Given the description of an element on the screen output the (x, y) to click on. 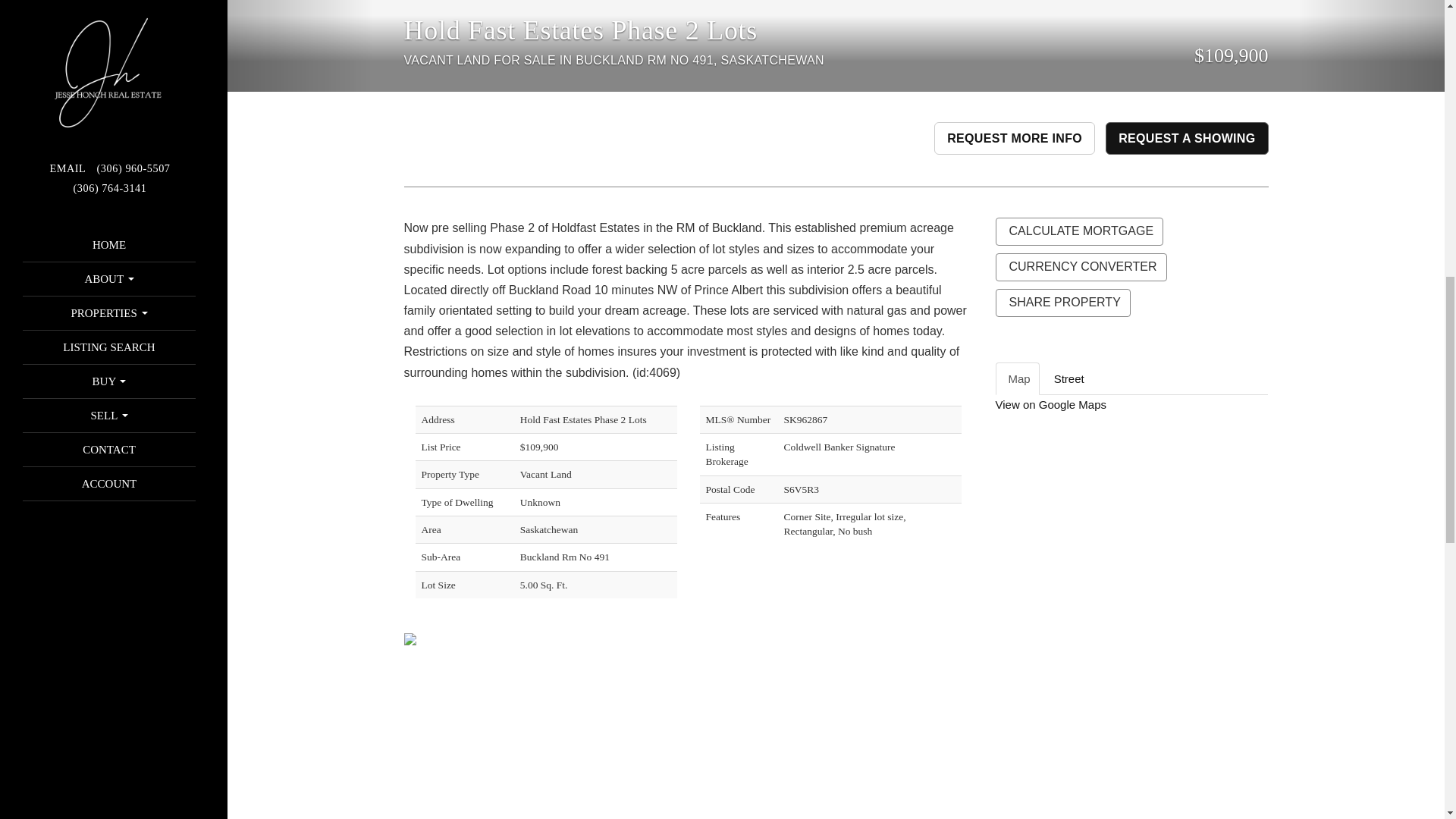
SHARE PROPERTY (1061, 302)
Previous (300, 45)
CURRENCY CONVERTER (1080, 267)
REQUEST MORE INFO (1014, 138)
REQUEST A SHOWING (1186, 138)
Walk Score (1131, 701)
CALCULATE MORTGAGE (1078, 231)
